Given the description of an element on the screen output the (x, y) to click on. 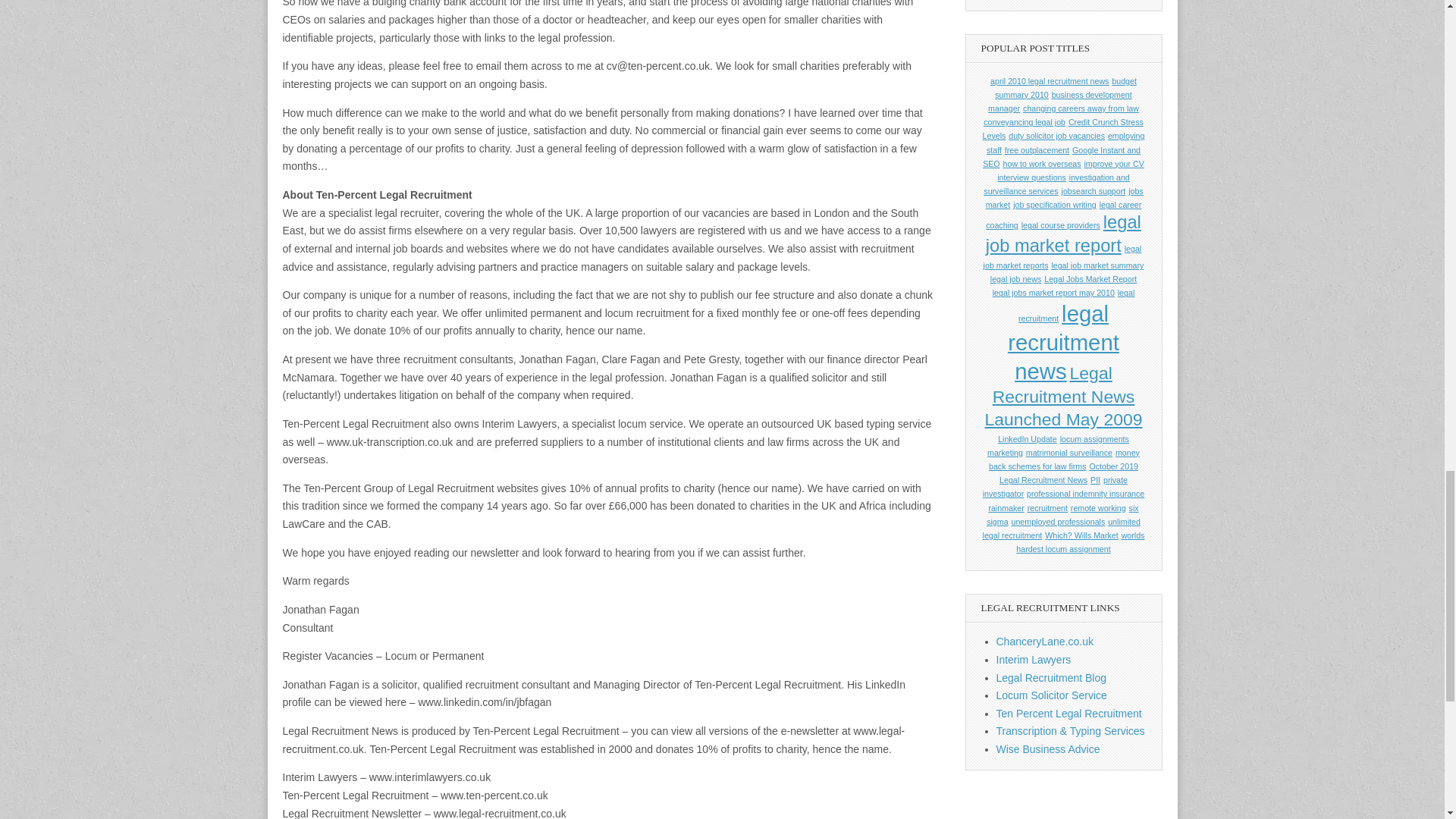
Interim Lawyers Locum Recruitment (1033, 659)
Interim Lawyers Legal Recruitment (1050, 695)
